Given the description of an element on the screen output the (x, y) to click on. 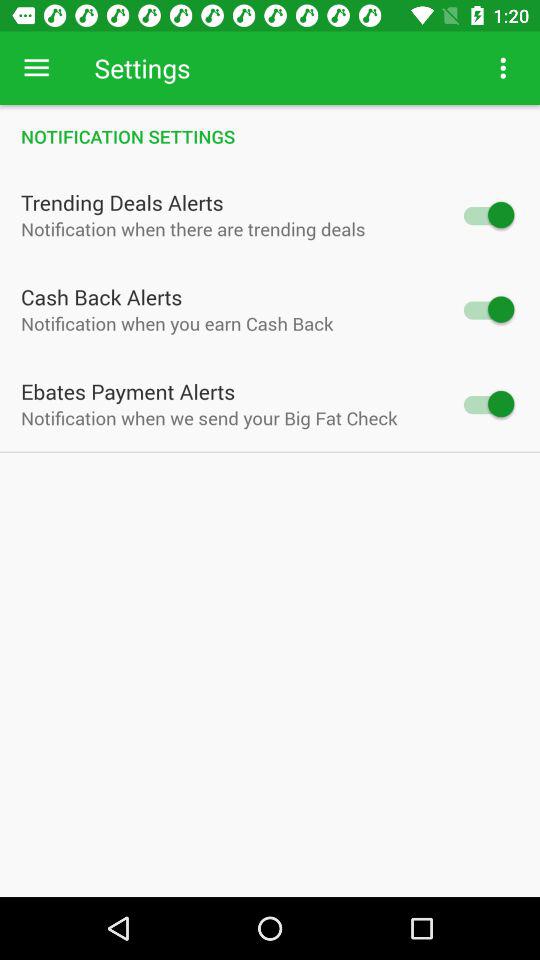
select the last button of the page (487, 403)
select the button which is on the top right side of the page (503, 67)
